Given the description of an element on the screen output the (x, y) to click on. 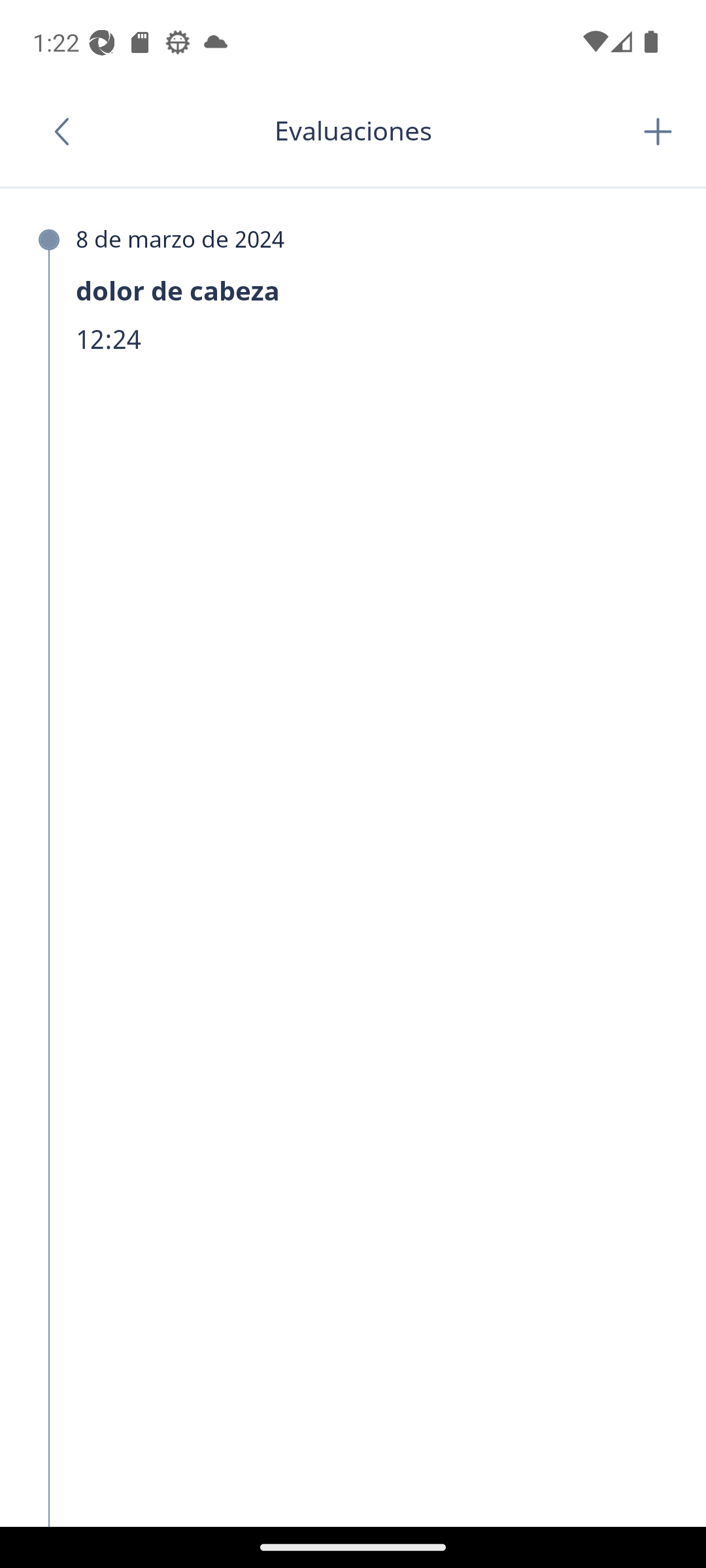
Go back, Navigates to the previous screen (68, 131)
Plus icon, Start new assessment (657, 131)
dolor de cabeza (349, 291)
